Given the description of an element on the screen output the (x, y) to click on. 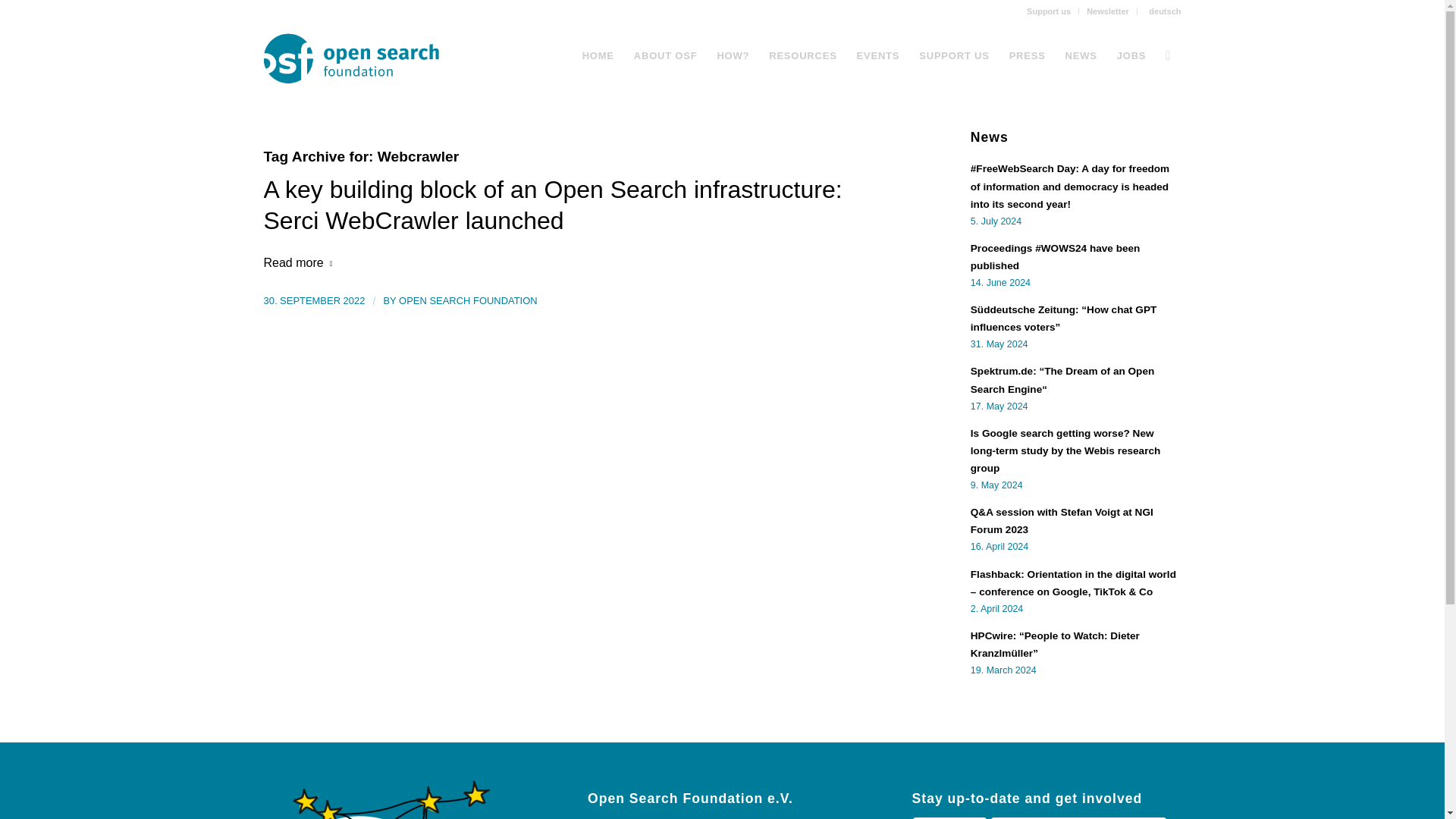
ABOUT OSF (665, 56)
HOME (598, 56)
Support us (1048, 11)
Open Search Foundation Logo (361, 56)
deutsch (1162, 11)
HOW? (732, 56)
JOBS (1131, 56)
RESOURCES (801, 56)
Newsletter (1107, 11)
NEWS (1080, 56)
SUPPORT US (953, 56)
EVENTS (878, 56)
OPEN SEARCH FOUNDATION (467, 300)
